Given the description of an element on the screen output the (x, y) to click on. 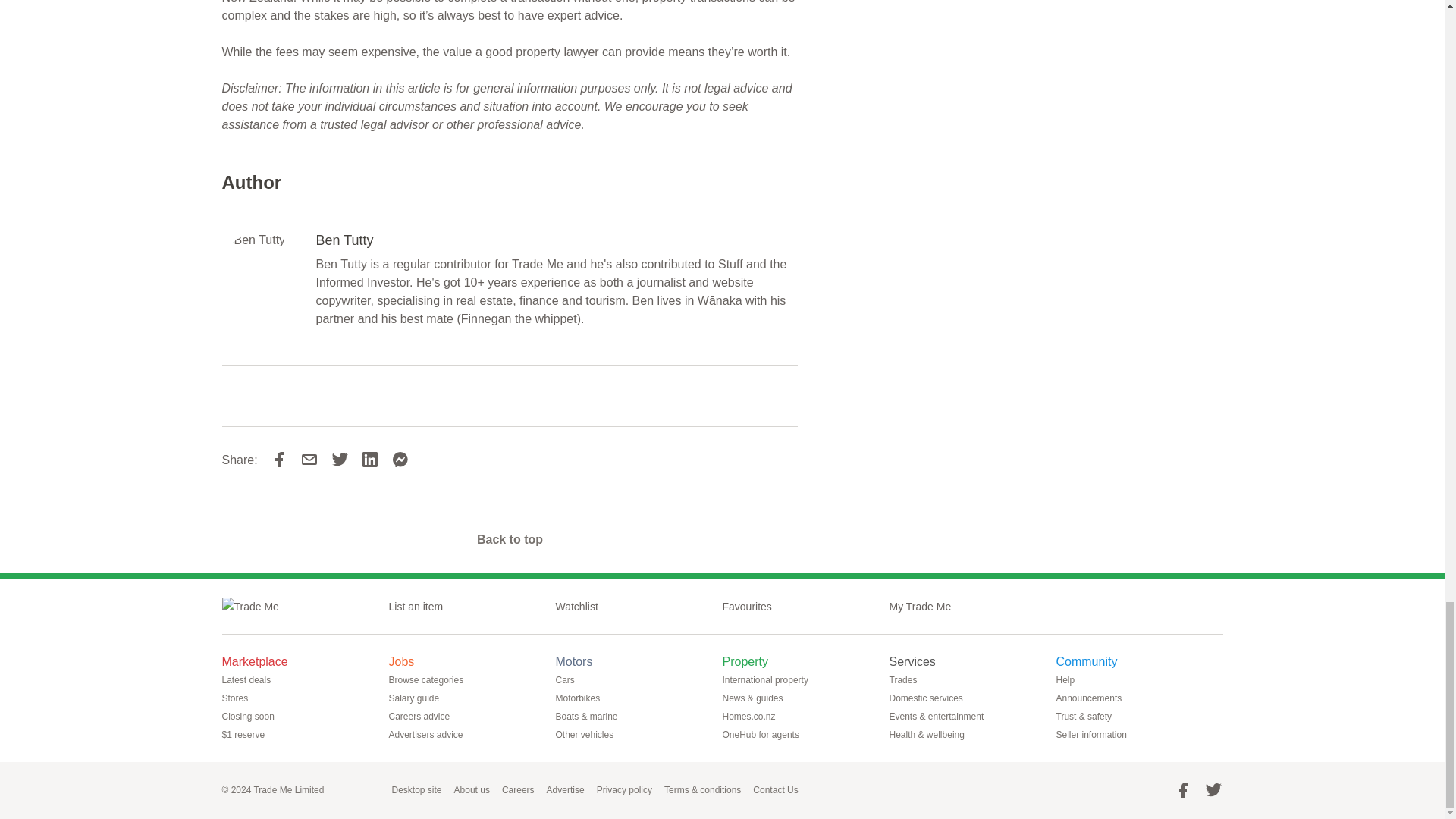
Motors (579, 661)
Share on Twitter (345, 459)
Favourites (752, 606)
Closing soon (253, 716)
Careers advice (424, 716)
Latest deals (251, 679)
My Trade Me (925, 606)
List an item (421, 606)
Stores (240, 698)
Share on Facebook (278, 459)
Motorbikes (582, 698)
Salary guide (419, 698)
Share on Messenger (400, 459)
Marketplace (260, 661)
Back to top (510, 539)
